Given the description of an element on the screen output the (x, y) to click on. 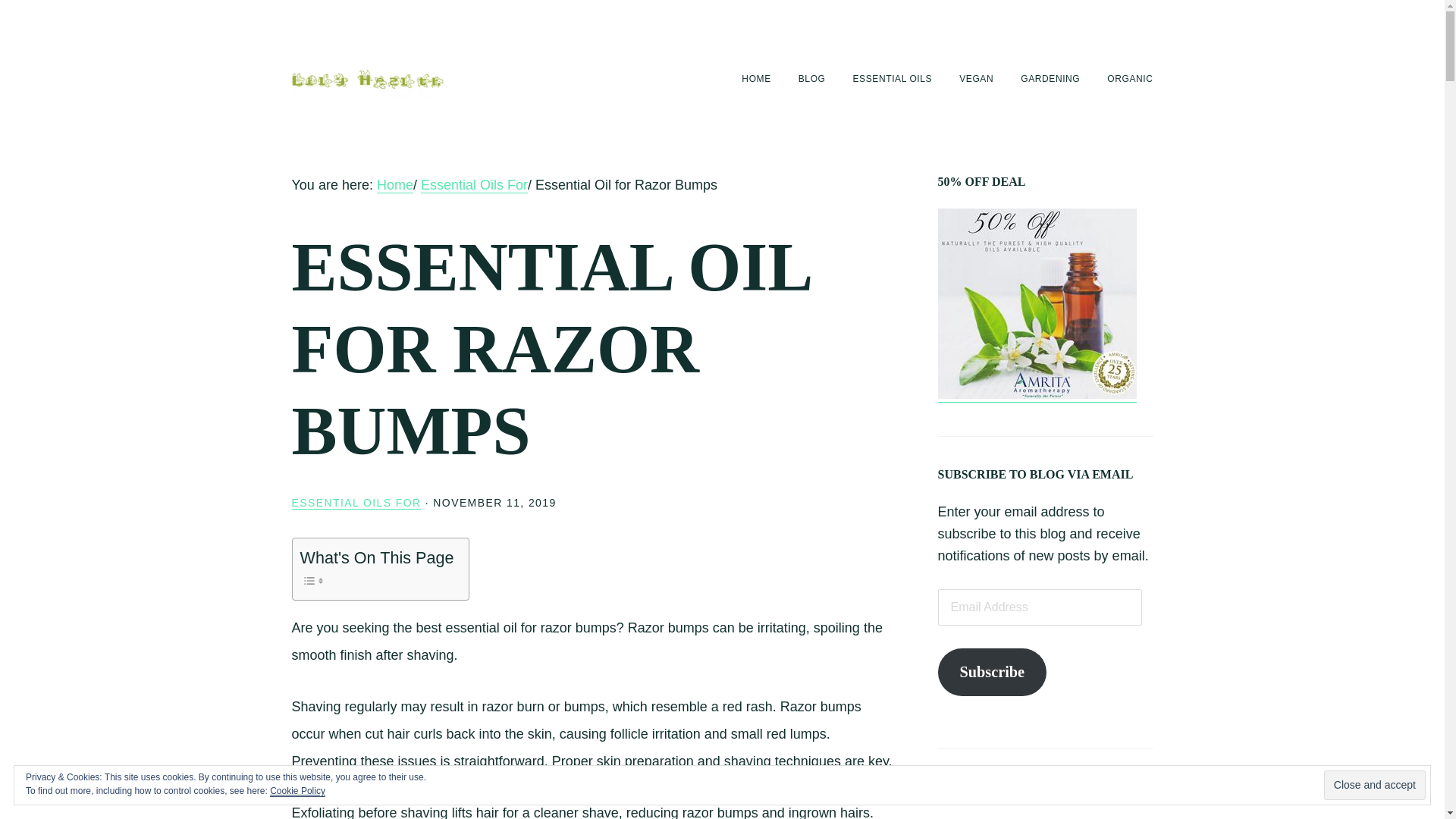
ESSENTIAL OILS FOR (355, 502)
Close and accept (1374, 785)
ORGANIC (1129, 78)
ESSENTIAL OILS (893, 78)
Lily Health (366, 77)
Home (395, 185)
VEGAN (975, 78)
Essential Oils For (473, 185)
GARDENING (1050, 78)
